Given the description of an element on the screen output the (x, y) to click on. 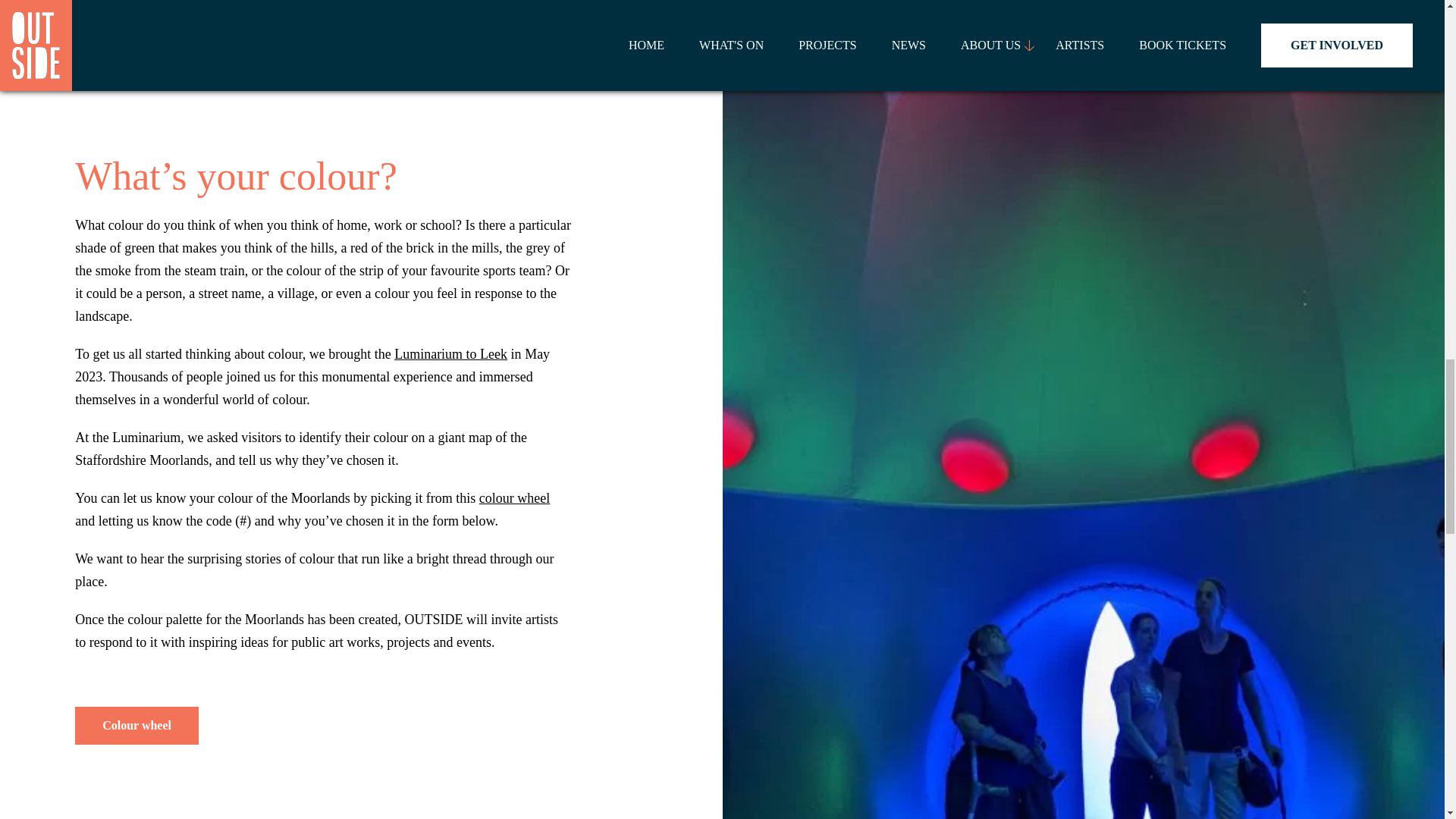
colour wheel (514, 498)
Luminarium to Leek (450, 353)
Colour wheel (136, 725)
